Given the description of an element on the screen output the (x, y) to click on. 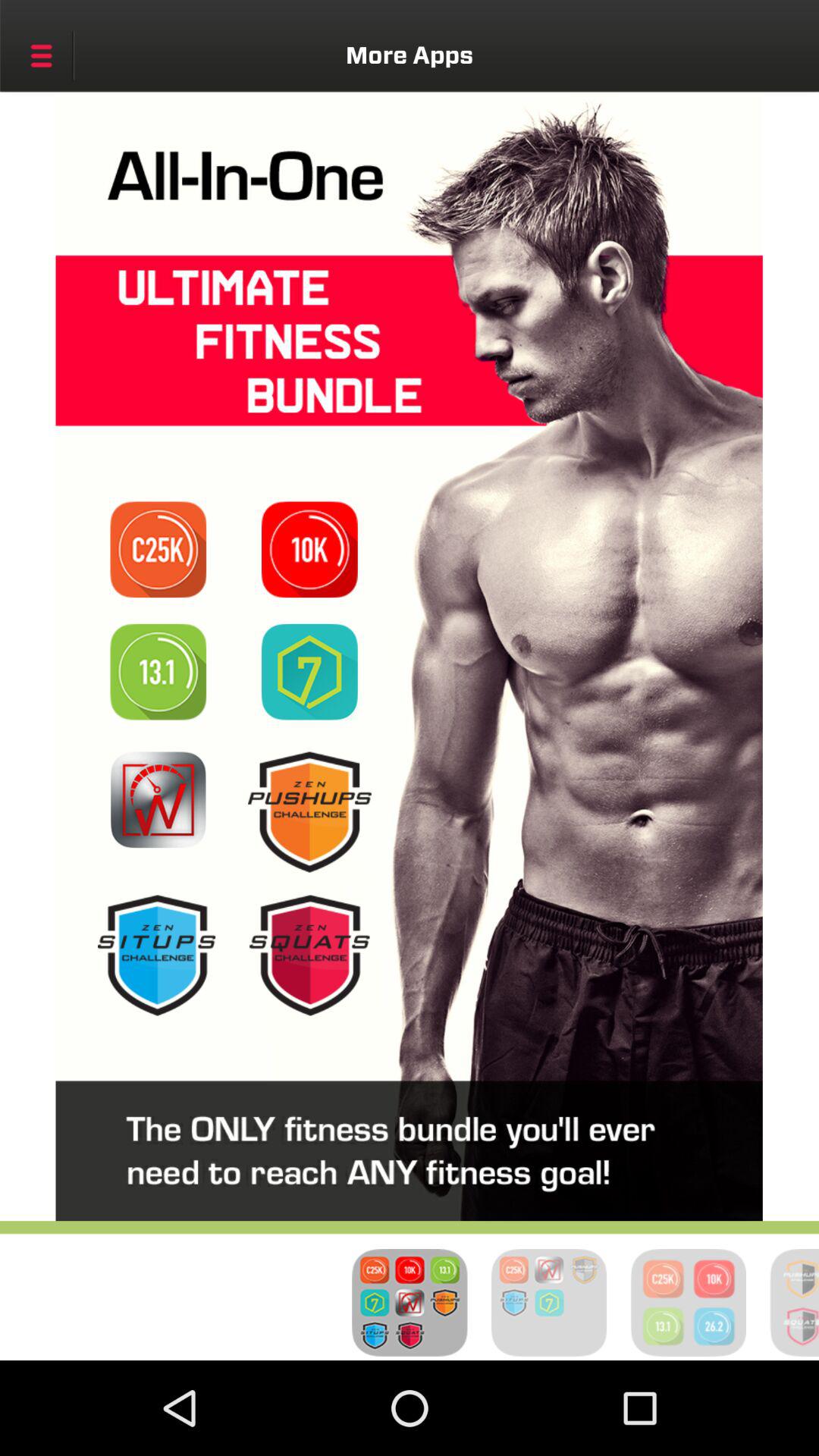
10k challenge (309, 549)
